Given the description of an element on the screen output the (x, y) to click on. 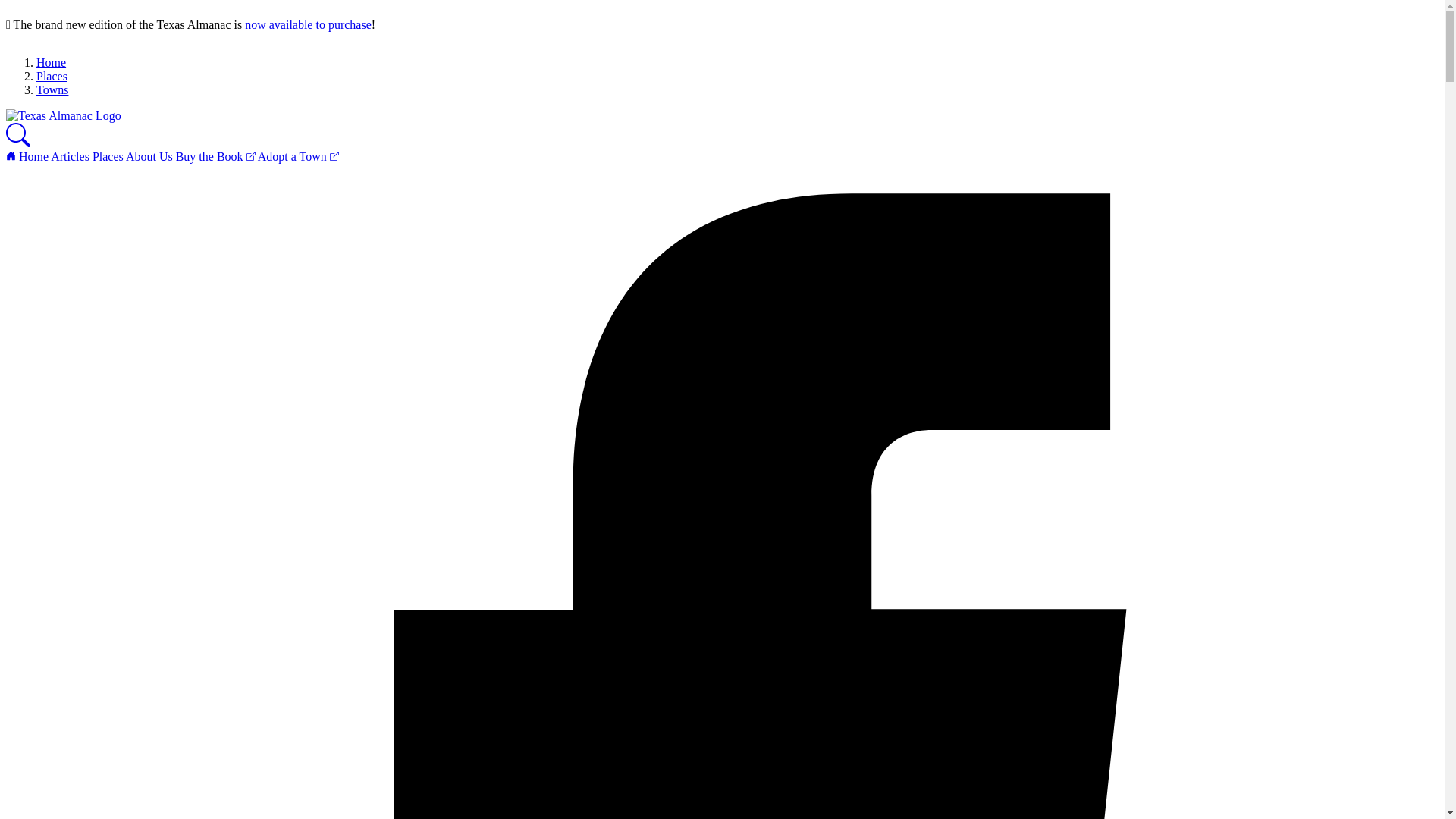
Home (50, 62)
Adopt a Town (298, 155)
Articles (71, 155)
Towns (52, 89)
Home (27, 155)
now available to purchase (307, 24)
Places (51, 75)
About Us (150, 155)
Buy the Book (216, 155)
Places (109, 155)
